Given the description of an element on the screen output the (x, y) to click on. 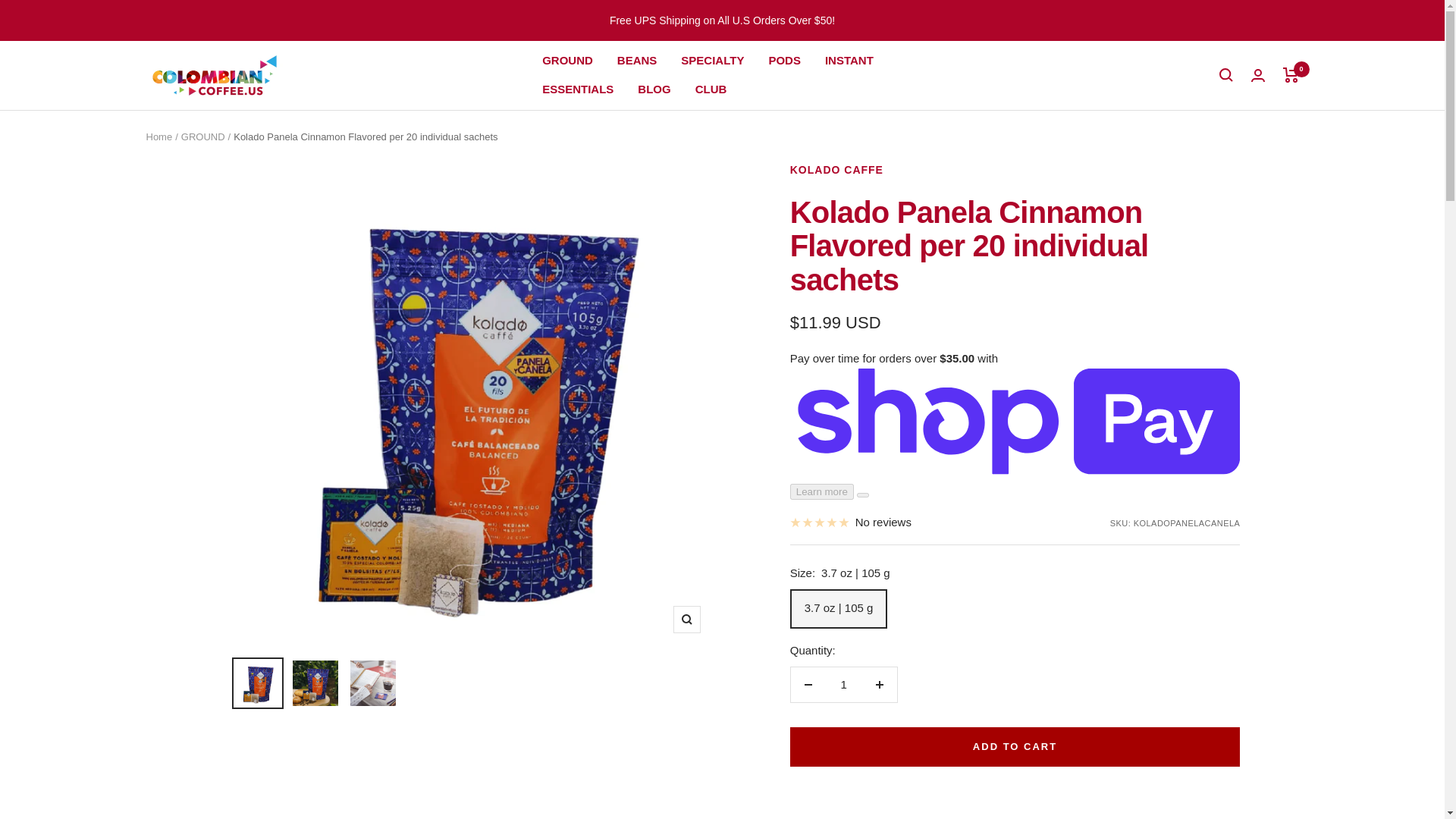
1 (843, 684)
ESSENTIALS (576, 89)
PODS (784, 60)
SPECIALTY (712, 60)
No reviews (850, 522)
Zoom (686, 619)
Increase quantity (878, 684)
CLUB (710, 89)
GROUND (202, 135)
colombiancoffeeus (213, 75)
BEANS (637, 60)
0 (1290, 74)
BLOG (653, 89)
GROUND (566, 60)
Home (158, 135)
